Given the description of an element on the screen output the (x, y) to click on. 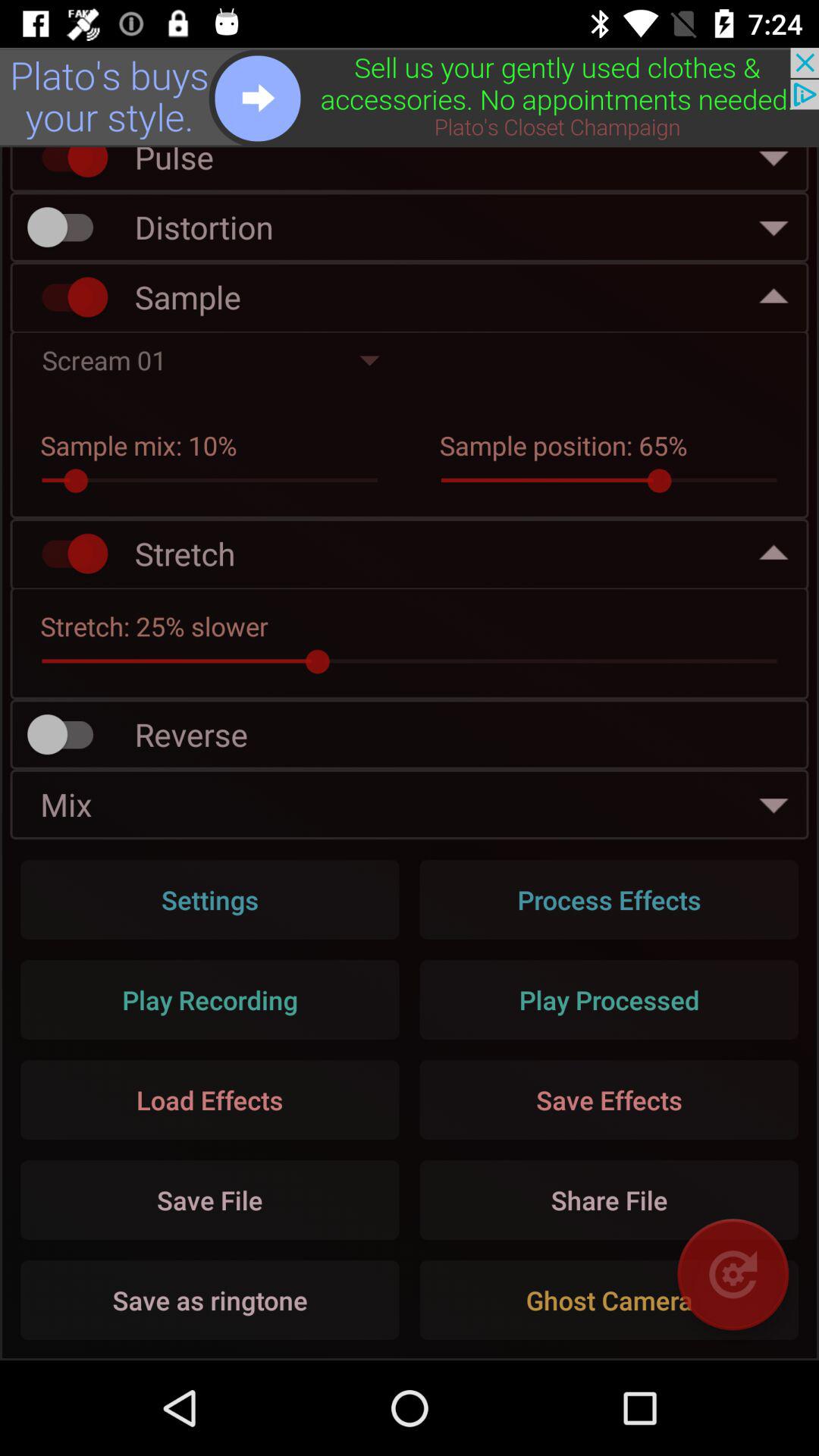
select advertisement (409, 97)
